Given the description of an element on the screen output the (x, y) to click on. 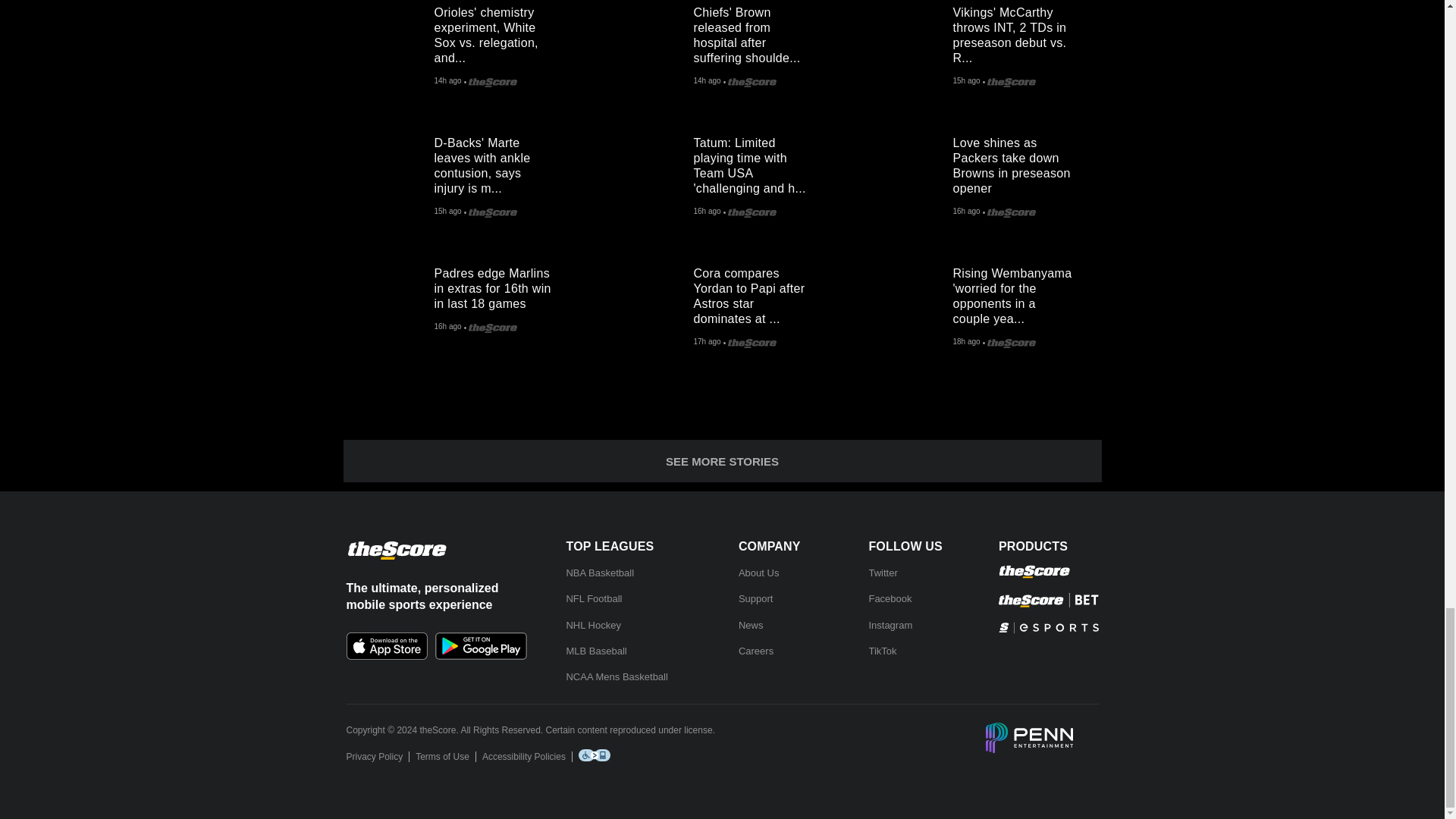
Padres edge Marlins in extras for 16th win in last 18 games (388, 300)
2024-08-11T03:05:44.000Z (706, 81)
2024-08-11T00:55:06.000Z (447, 327)
2024-08-11T03:10:12.000Z (447, 81)
2024-08-11T00:43:02.000Z (706, 342)
Love shines as Packers take down Browns in preseason opener (1018, 161)
2024-08-11T02:25:01.000Z (447, 212)
2024-08-11T01:20:25.000Z (706, 212)
